Given the description of an element on the screen output the (x, y) to click on. 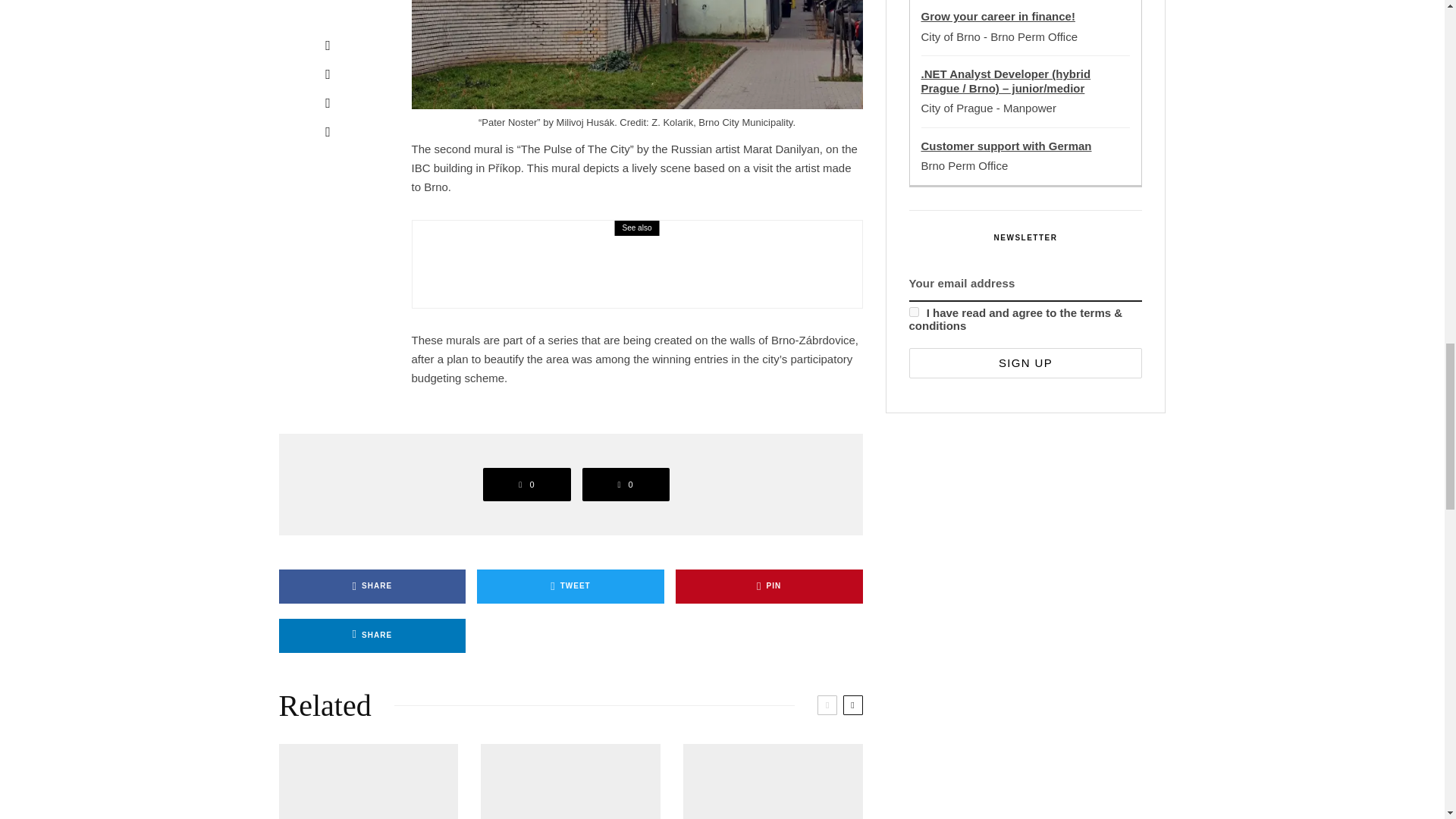
1 (913, 311)
Sign up (1024, 362)
